Given the description of an element on the screen output the (x, y) to click on. 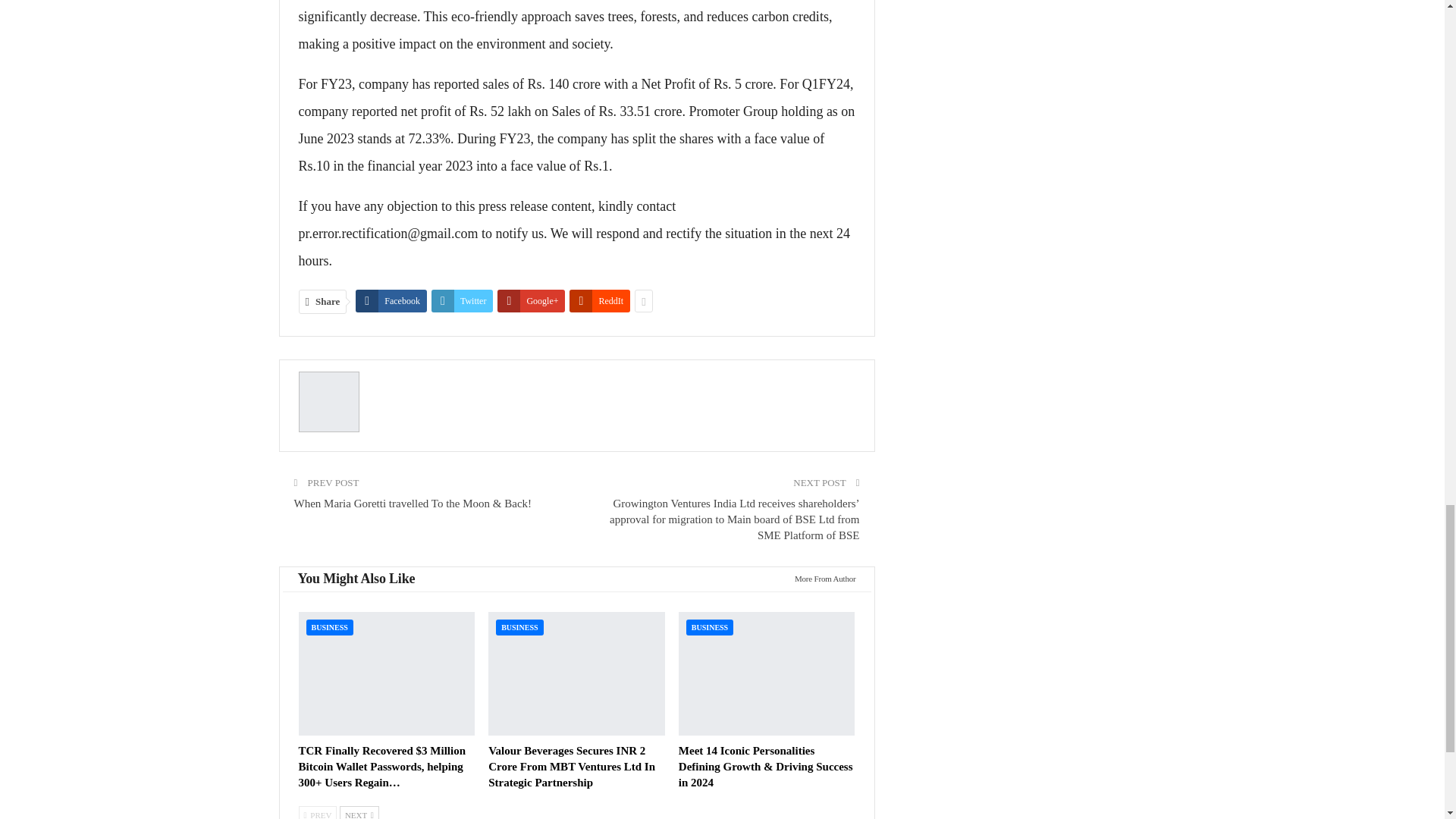
Previous (317, 812)
ReddIt (599, 300)
You Might Also Like (355, 578)
Next (358, 812)
Facebook (390, 300)
More From Author (821, 578)
Twitter (461, 300)
